Given the description of an element on the screen output the (x, y) to click on. 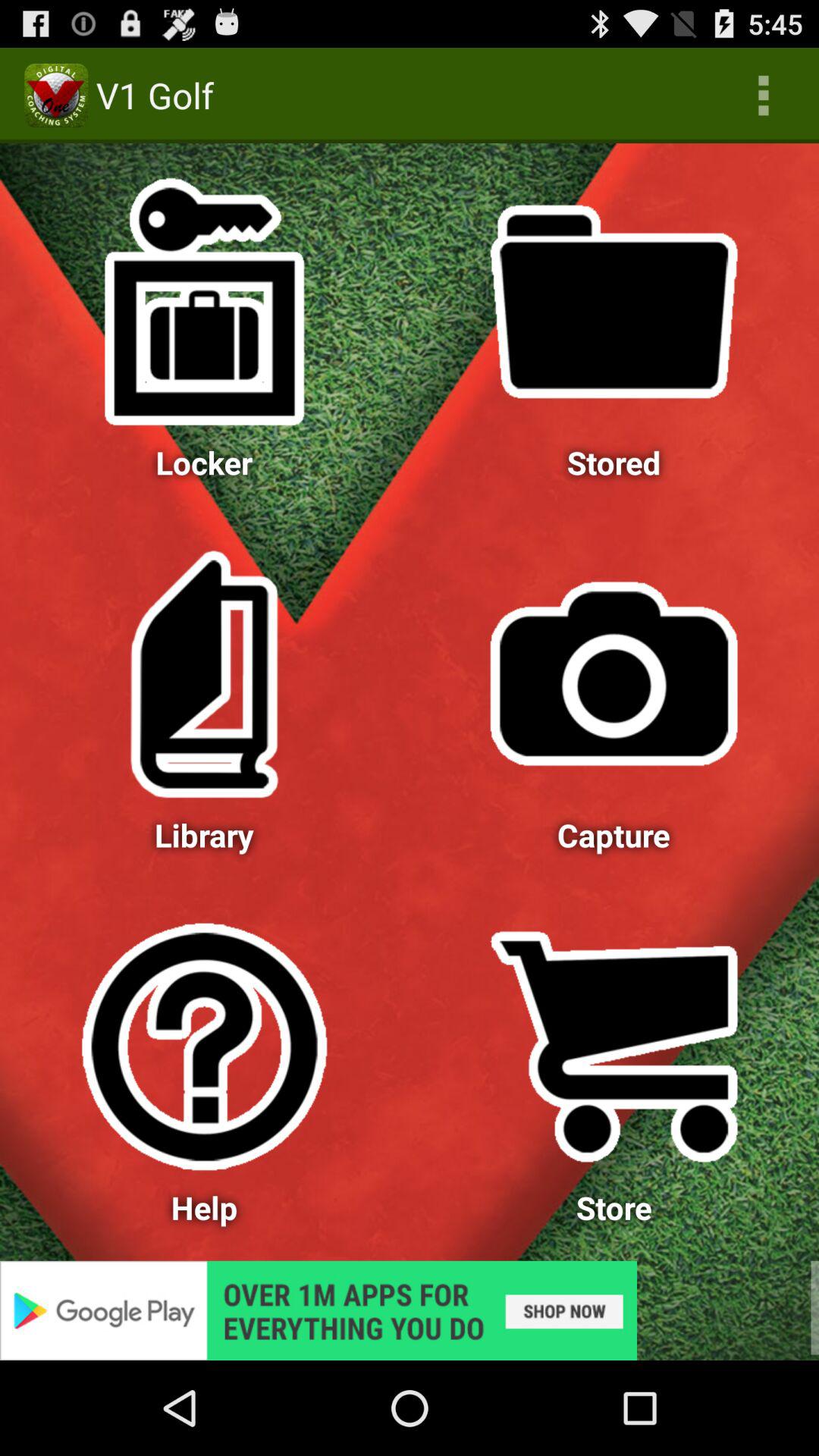
go to the advertisements (409, 1310)
